Given the description of an element on the screen output the (x, y) to click on. 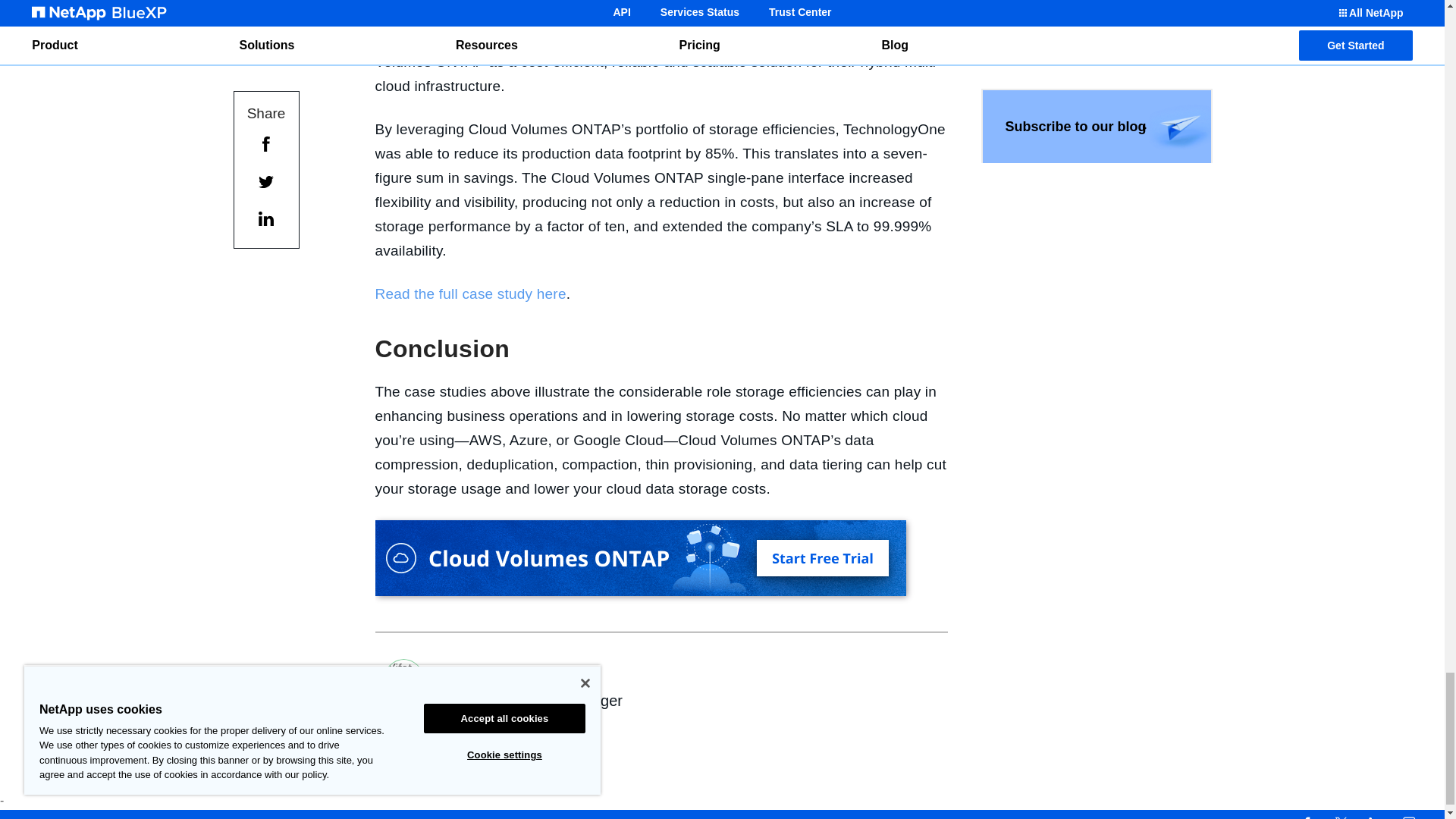
Linkedin (1374, 817)
Twitter (1340, 817)
Facebook (1306, 817)
